Given the description of an element on the screen output the (x, y) to click on. 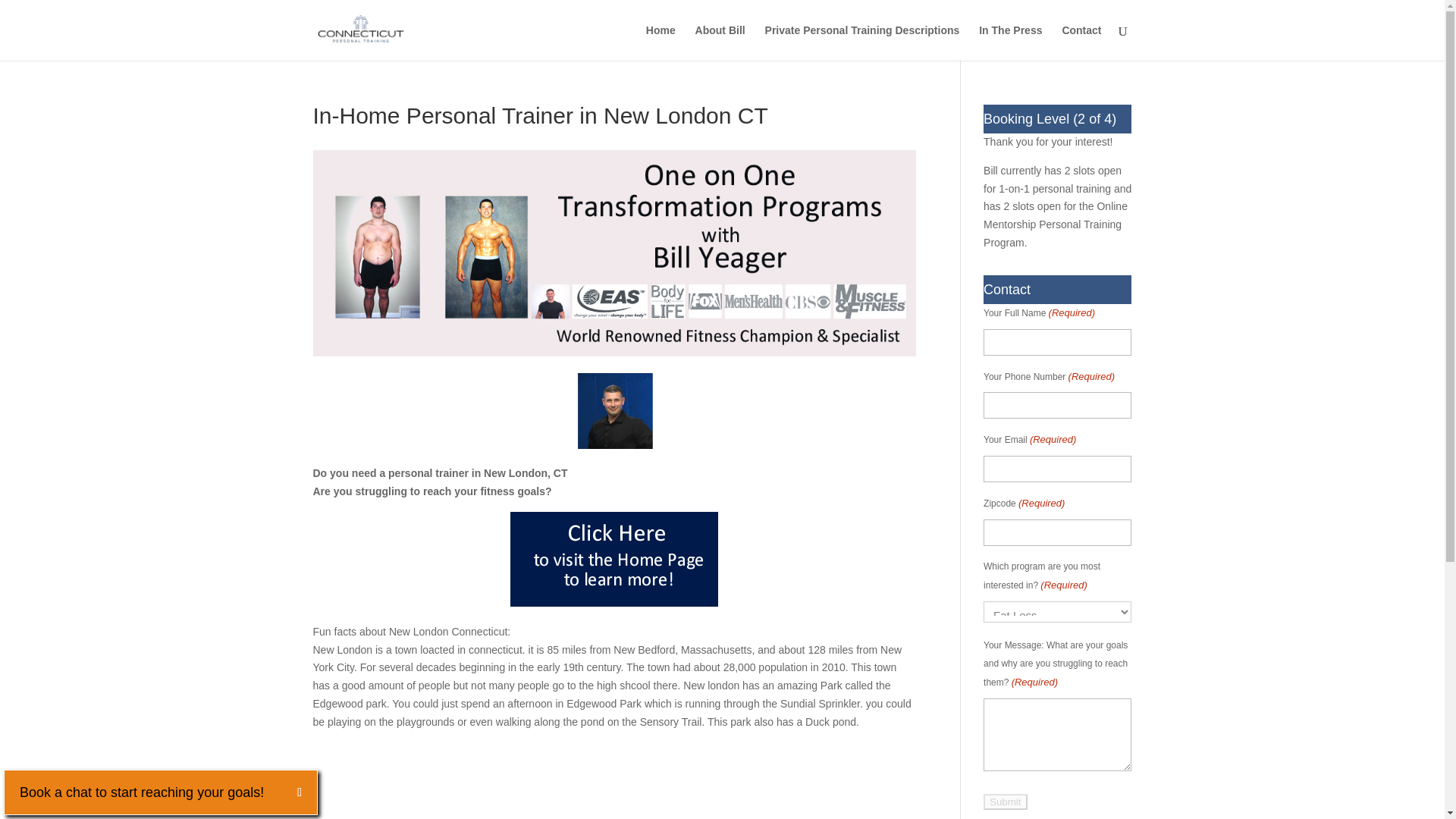
Private Personal Training Descriptions (862, 42)
Contact (1080, 42)
About Bill (720, 42)
Submit (1005, 801)
Submit (1005, 801)
In The Press (1010, 42)
